Given the description of an element on the screen output the (x, y) to click on. 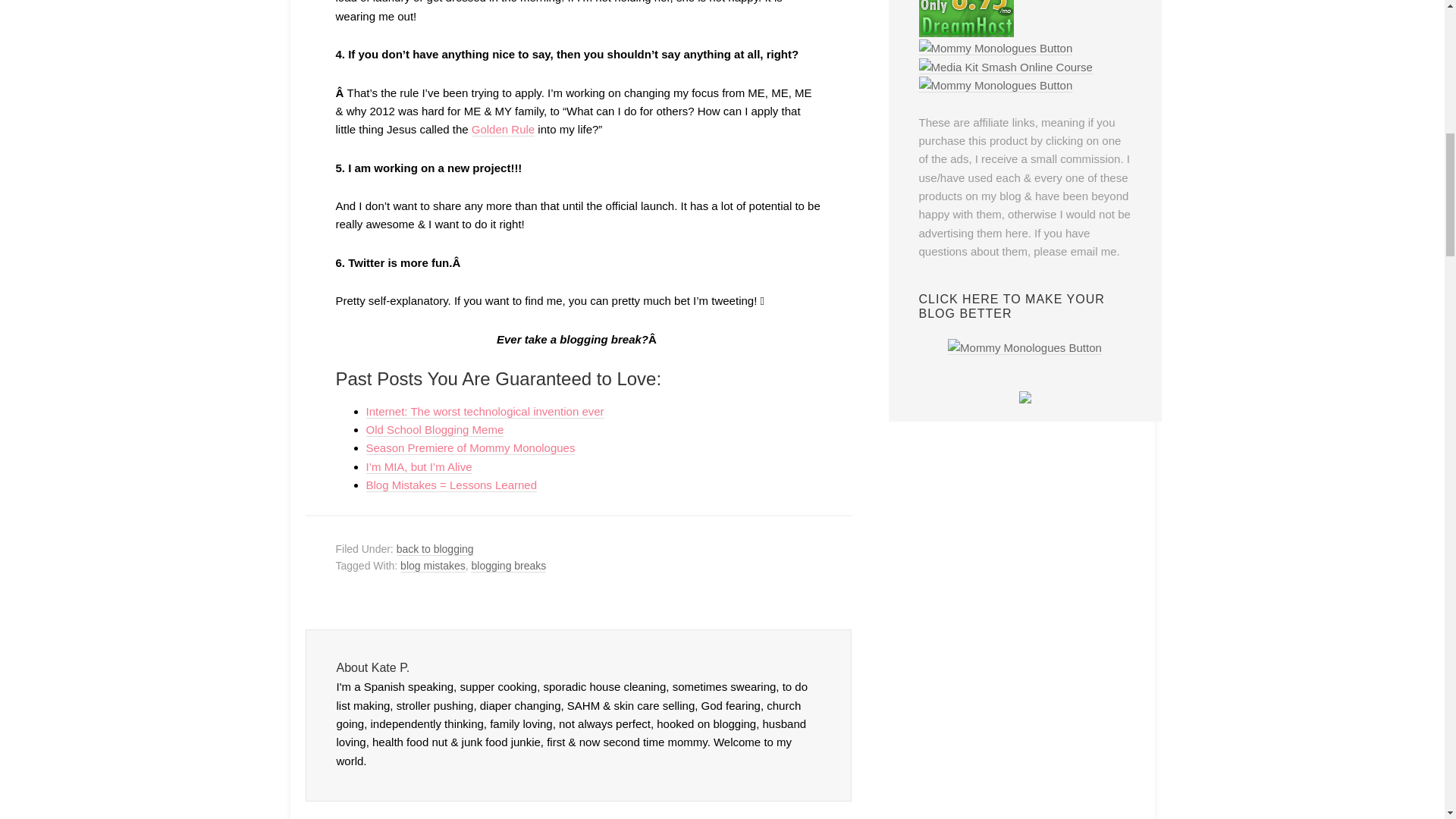
Old School Blogging Meme (434, 429)
Internet: The worst technological invention ever (484, 411)
Old School Blogging Meme (434, 429)
blog mistakes (432, 565)
Season Premiere of Mommy Monologues (470, 448)
Season Premiere of Mommy Monologues (470, 448)
Golden Rule (502, 129)
Mommy Monologues (995, 85)
Mommy Monologues (995, 48)
blogging breaks (508, 565)
